Given the description of an element on the screen output the (x, y) to click on. 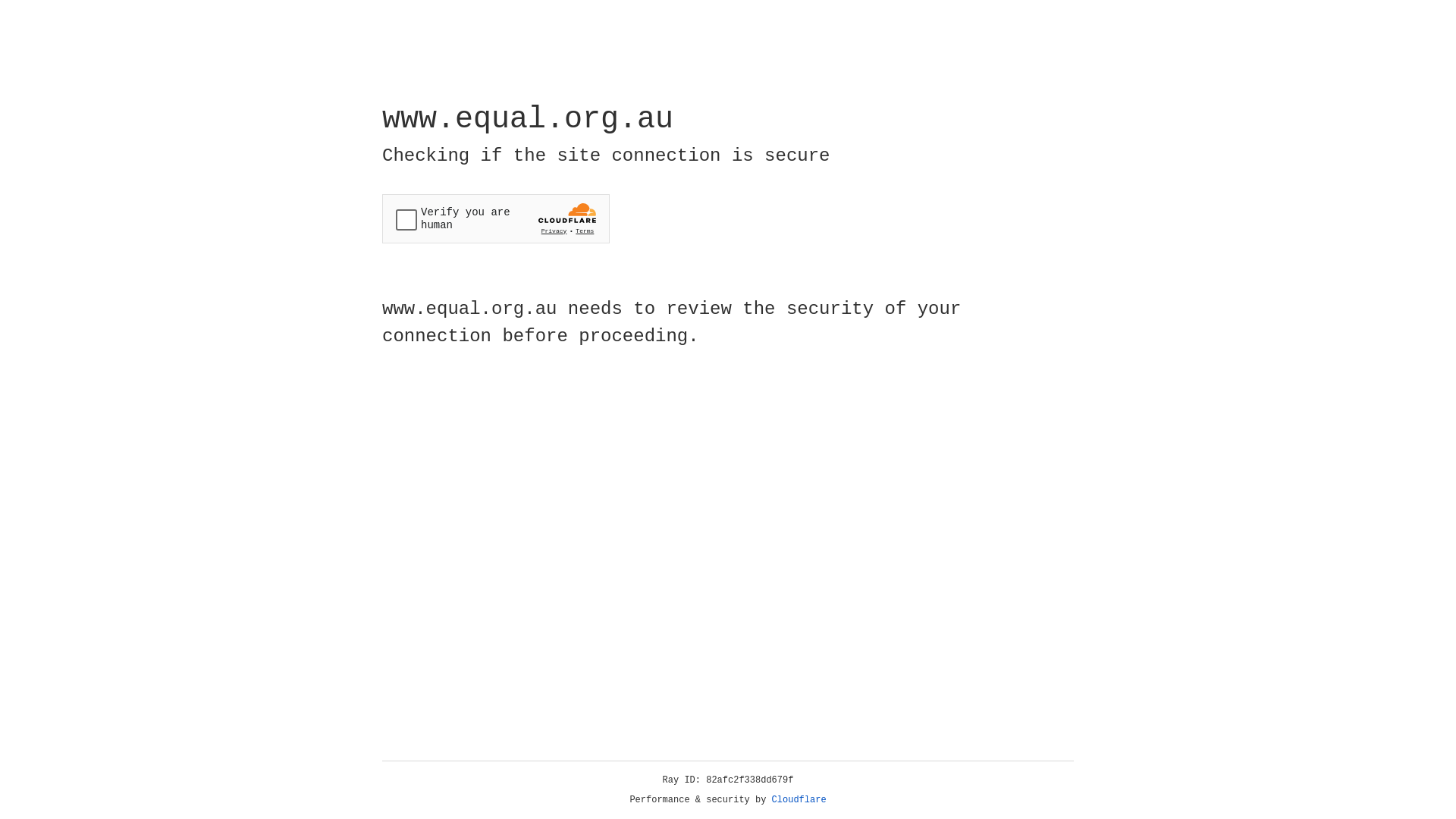
Widget containing a Cloudflare security challenge Element type: hover (495, 218)
Cloudflare Element type: text (798, 799)
